Given the description of an element on the screen output the (x, y) to click on. 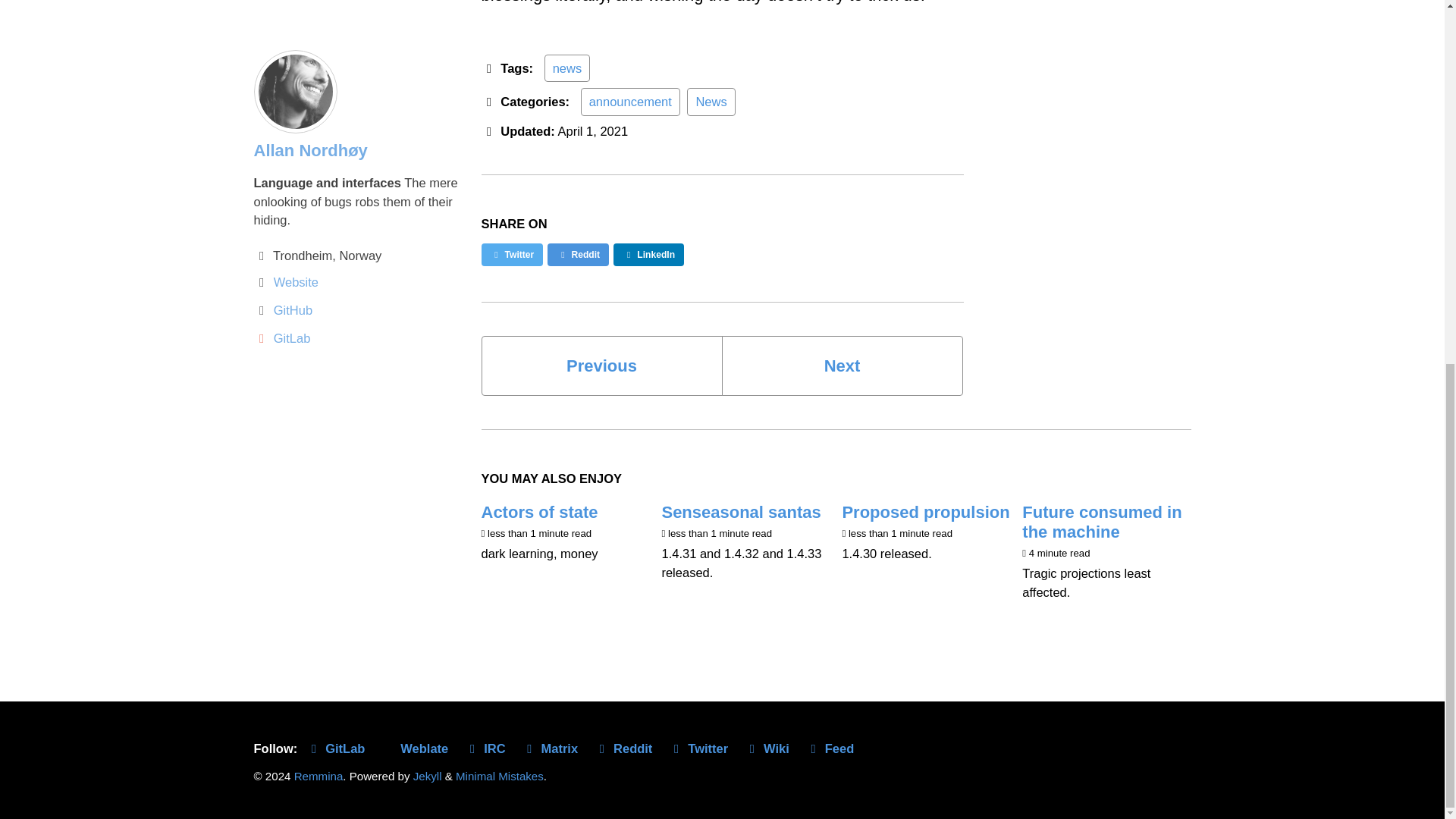
Previous (601, 365)
Reddit (626, 748)
Share on Reddit (577, 254)
News (711, 101)
news (567, 68)
Share on Twitter (511, 254)
Share on LinkedIn (648, 254)
Future consumed in the machine (1101, 521)
Twitter (511, 254)
IRC (488, 748)
